Given the description of an element on the screen output the (x, y) to click on. 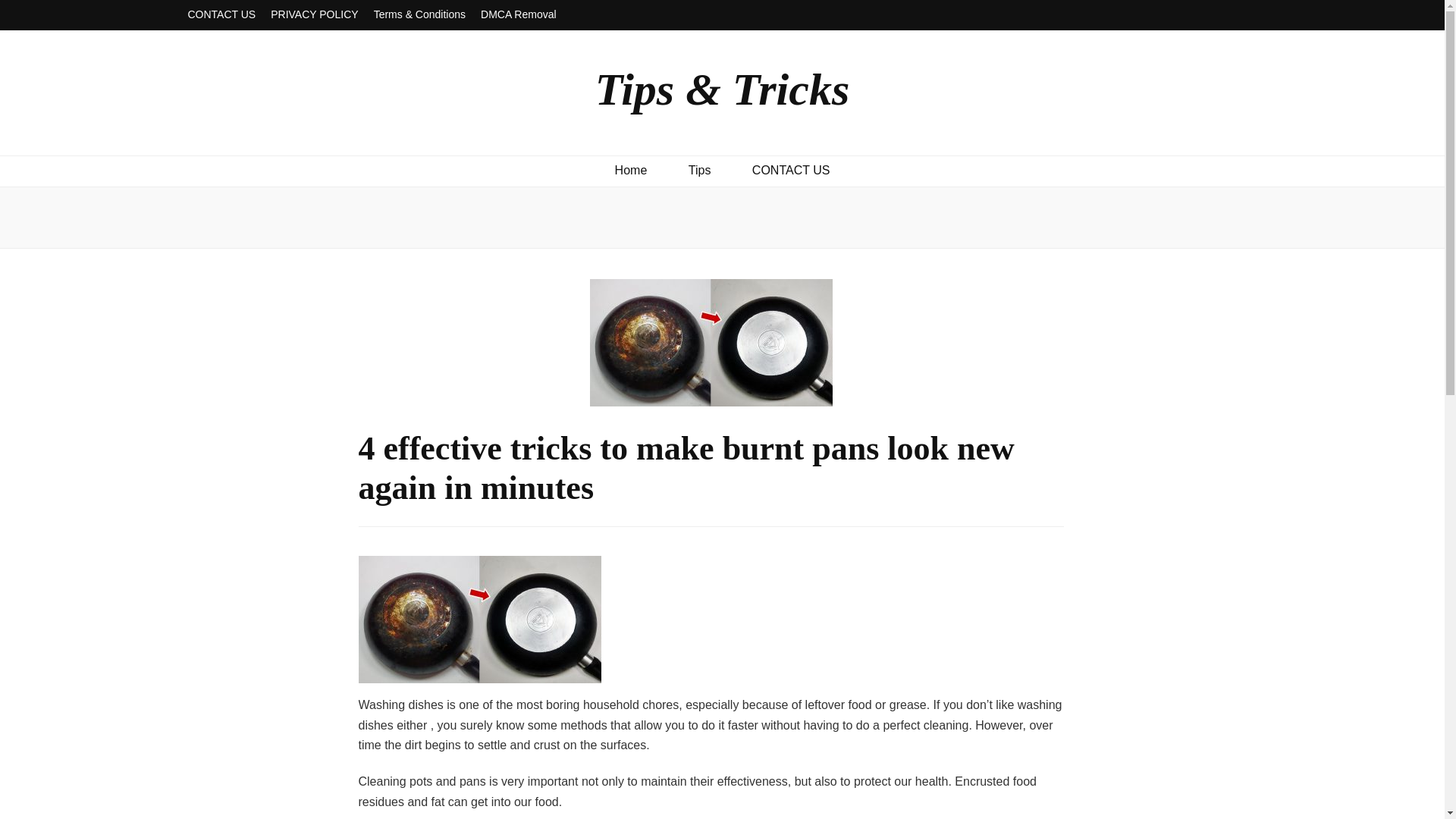
Home (630, 170)
PRIVACY POLICY (314, 15)
Tips (699, 170)
DMCA Removal (518, 15)
CONTACT US (221, 15)
CONTACT US (790, 170)
